Given the description of an element on the screen output the (x, y) to click on. 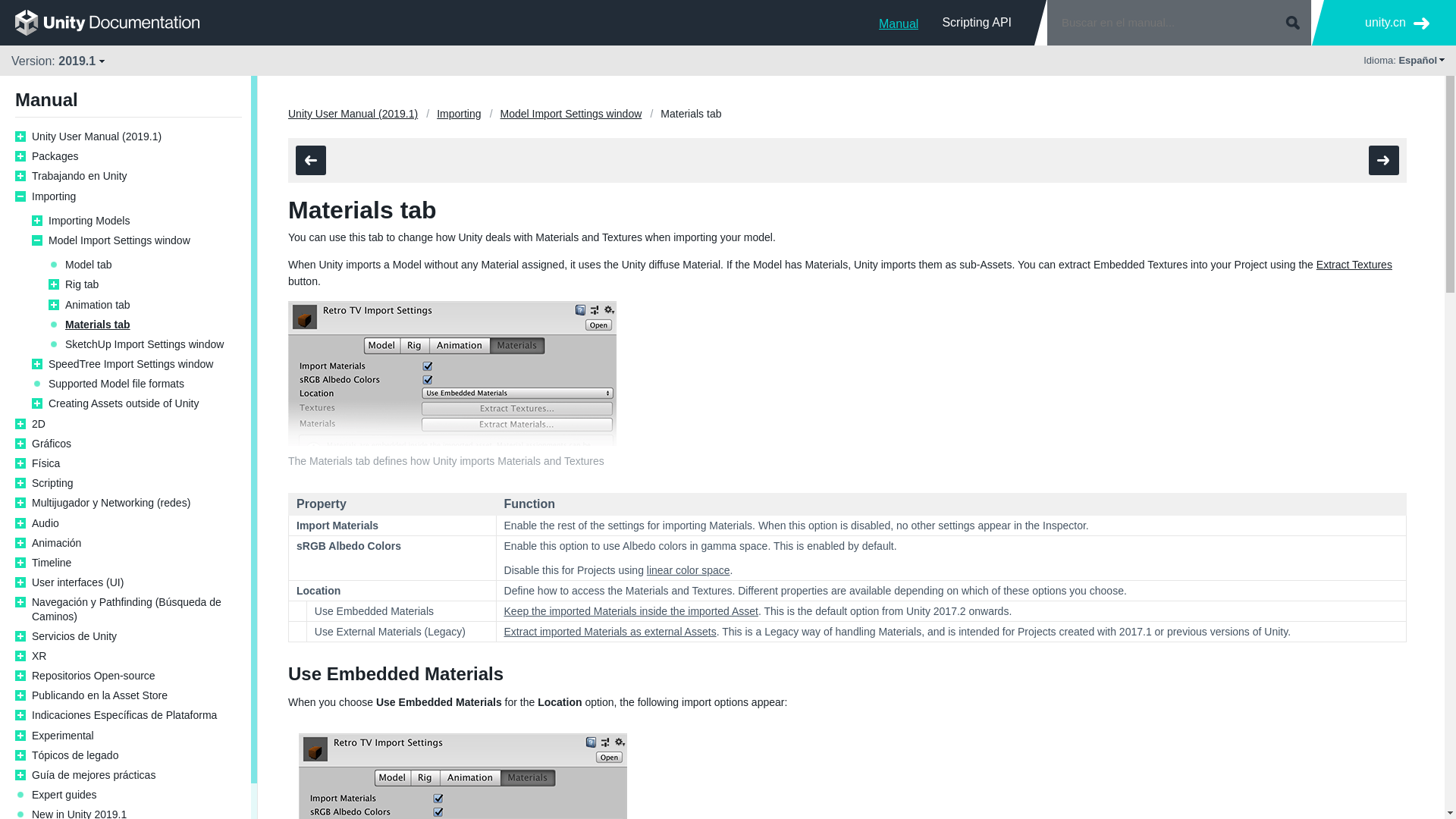
Manual (898, 22)
Scripting API (976, 22)
unity.cn (1397, 22)
